Given the description of an element on the screen output the (x, y) to click on. 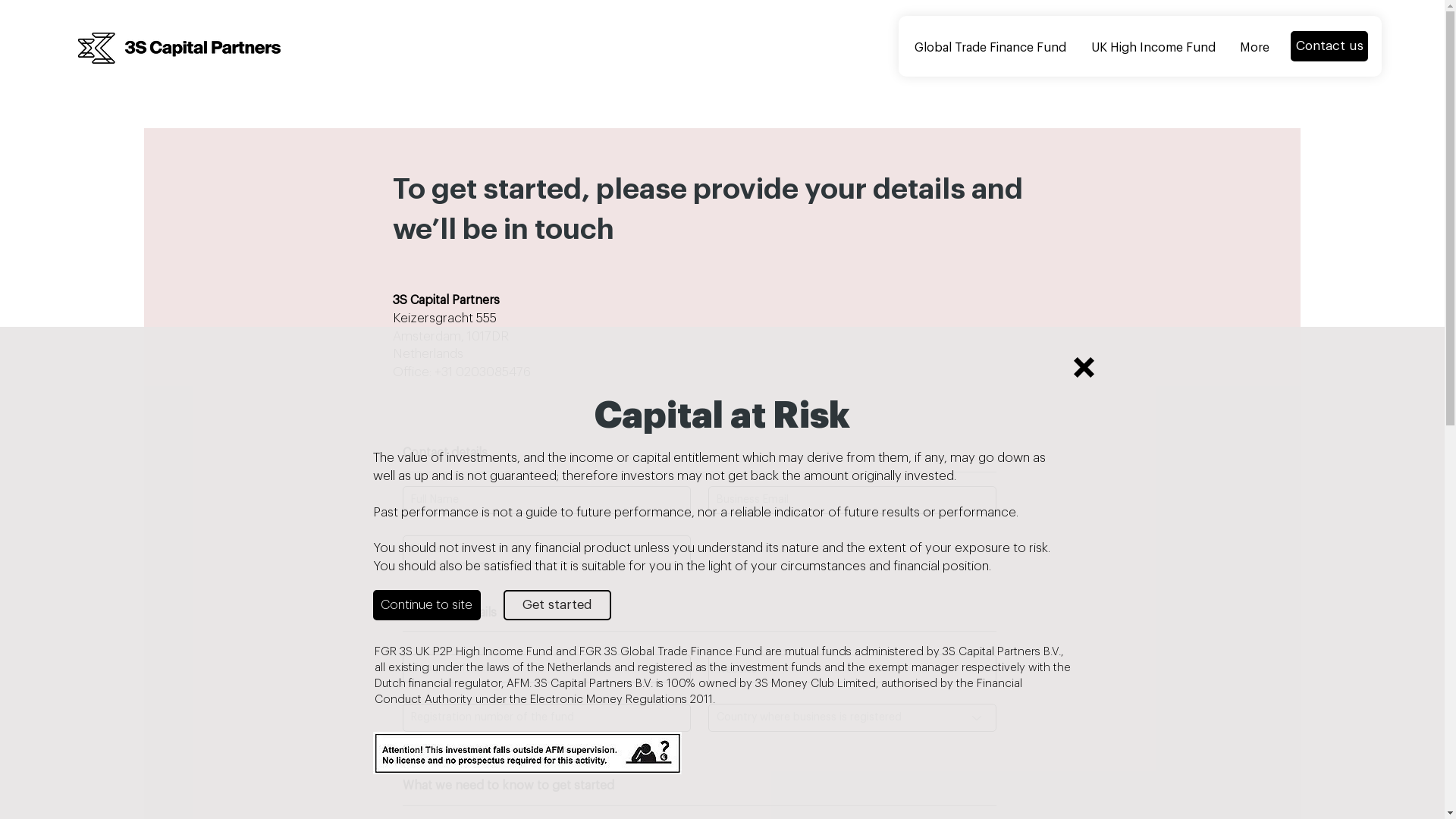
Back to site Element type: hover (1083, 367)
Get started Element type: text (557, 604)
Contact us Element type: text (1329, 46)
UK High Income Fund Element type: text (1152, 47)
Continue to site Element type: text (426, 604)
